Given the description of an element on the screen output the (x, y) to click on. 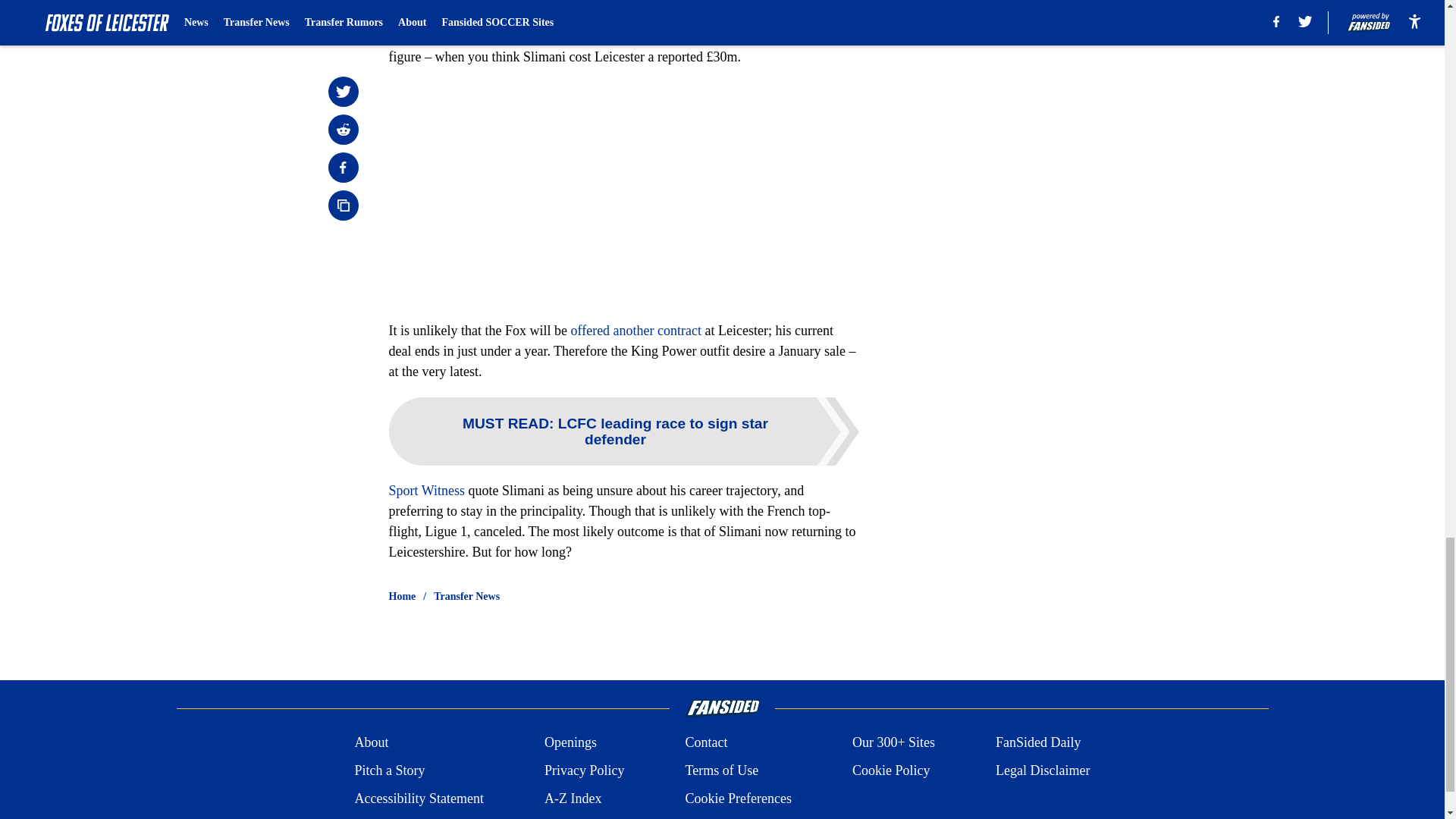
Sport Witness (426, 490)
A-Z Index (572, 798)
Terms of Use (721, 770)
Transfer News (466, 596)
Legal Disclaimer (1042, 770)
FanSided Daily (1038, 742)
Leicester Mercury (567, 15)
Cookie Preferences (737, 798)
Openings (570, 742)
About (370, 742)
